Given the description of an element on the screen output the (x, y) to click on. 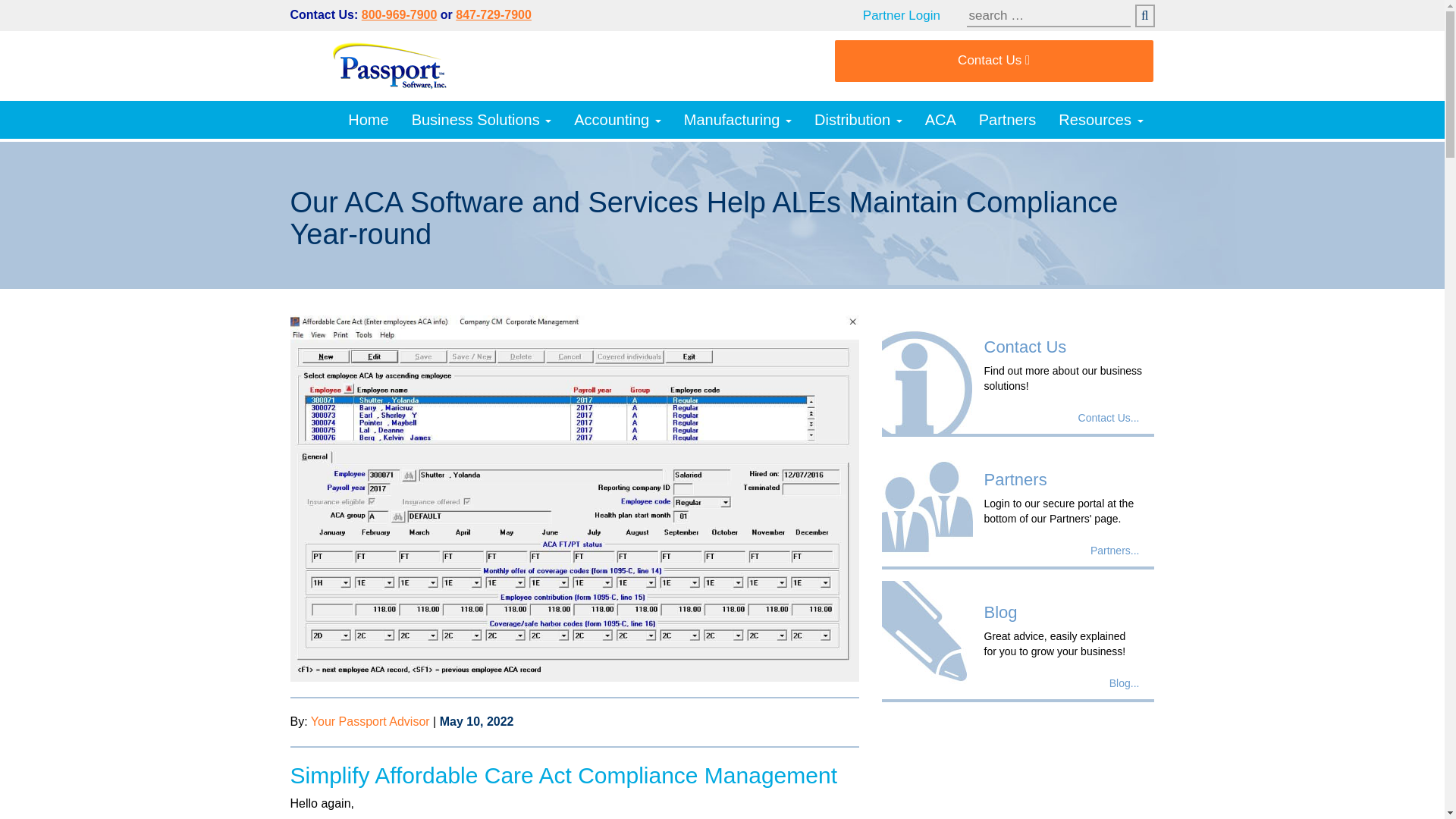
Business Solutions (481, 119)
Home (367, 119)
Partner Login (912, 15)
Accounting (617, 119)
Your Passport Advisor (370, 721)
Resources (1100, 119)
Distribution (858, 119)
Contact Us (993, 60)
Home (367, 119)
800-969-7900 (399, 14)
Manufacturing (737, 119)
Business Solutions (481, 119)
Accounting (617, 119)
Partners (1008, 119)
847-729-7900 (493, 14)
